Given the description of an element on the screen output the (x, y) to click on. 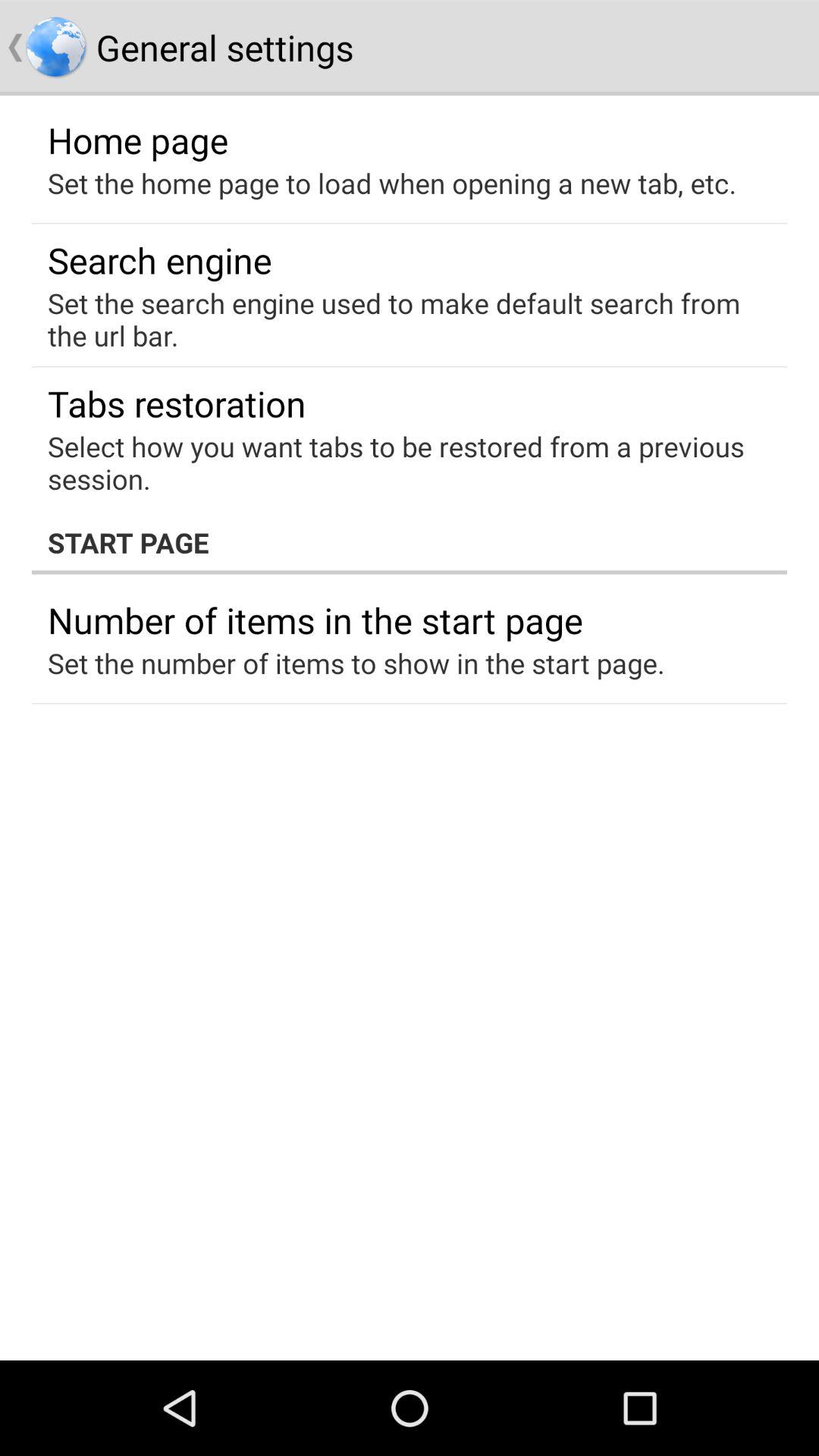
select item above start page item (399, 462)
